Given the description of an element on the screen output the (x, y) to click on. 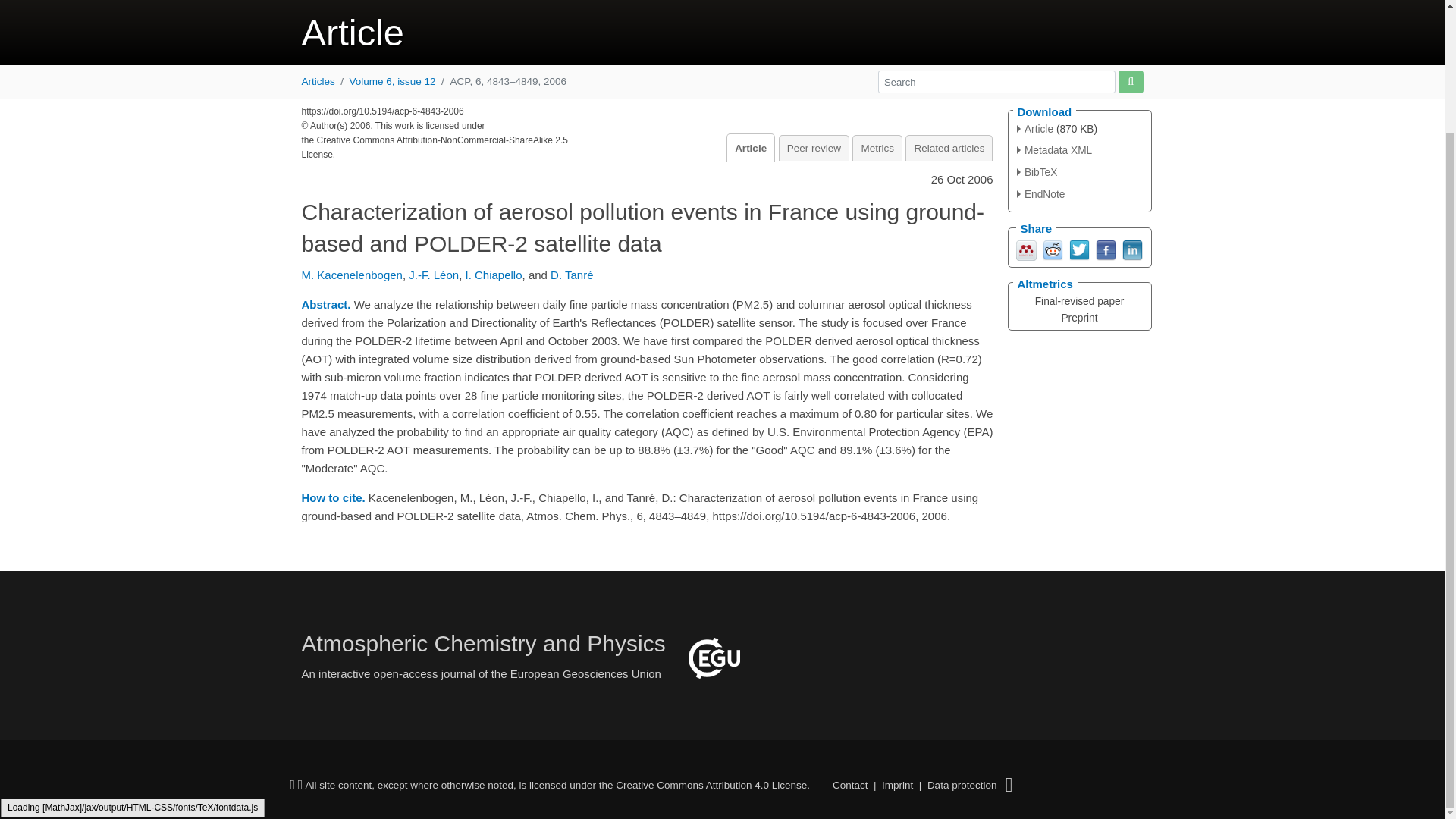
Twitter (1078, 248)
Reddit (1052, 248)
Start site search (1130, 81)
XML Version (1054, 150)
Mendeley (1026, 248)
Facebook (1104, 248)
